Given the description of an element on the screen output the (x, y) to click on. 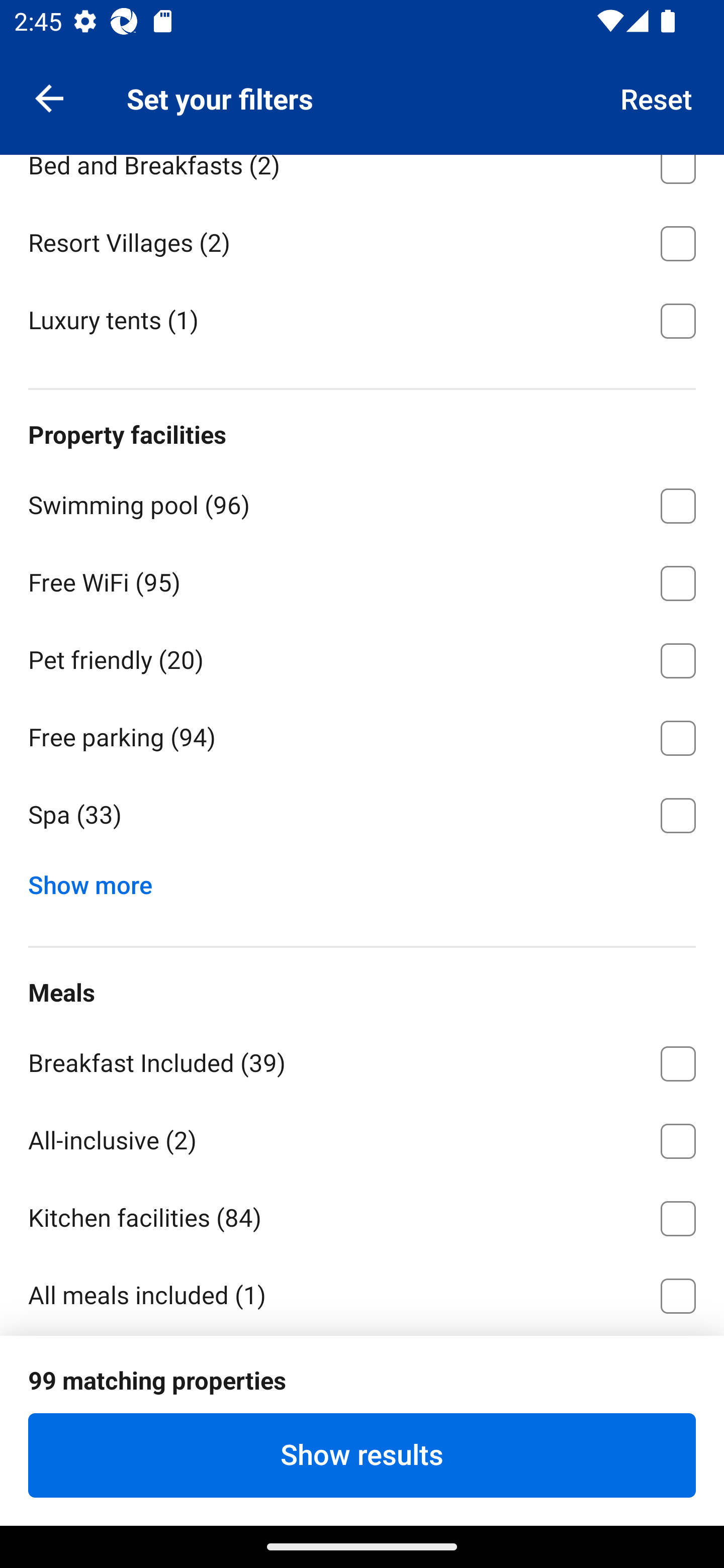
Guesthouses ⁦(3) (361, 85)
Navigate up (49, 97)
Reset (656, 97)
Bed and Breakfasts ⁦(2) (361, 178)
Resort Villages ⁦(2) (361, 240)
Luxury tents ⁦(1) (361, 319)
Swimming pool ⁦(96) (361, 502)
Free WiFi ⁦(95) (361, 579)
Pet friendly ⁦(20) (361, 657)
Free parking ⁦(94) (361, 734)
Spa ⁦(33) (361, 815)
Show more (97, 880)
Breakfast Included ⁦(39) (361, 1060)
All-inclusive ⁦(2) (361, 1137)
Kitchen facilities ⁦(84) (361, 1215)
All meals included ⁦(1) (361, 1294)
Show results (361, 1454)
